Given the description of an element on the screen output the (x, y) to click on. 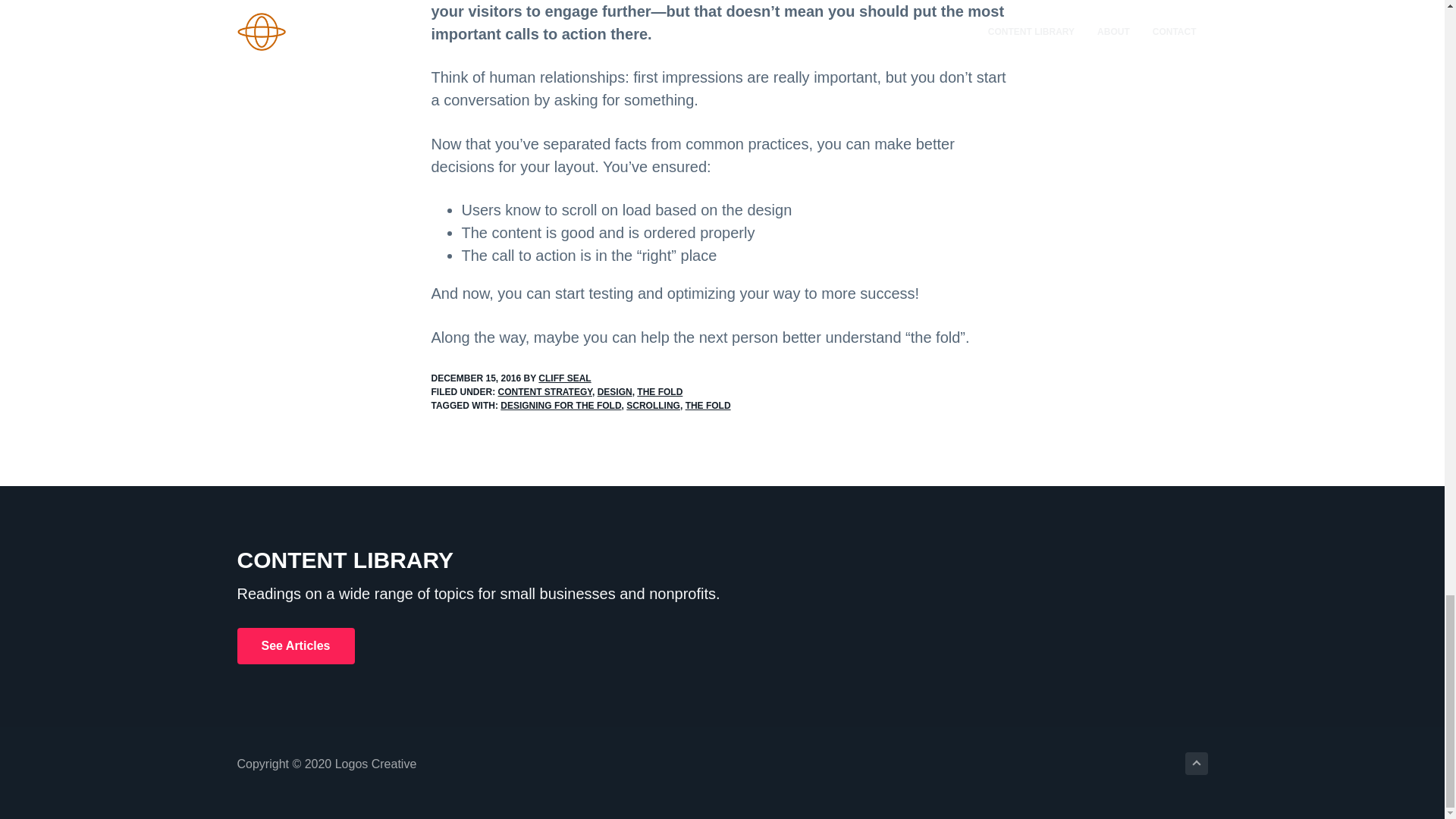
DESIGN (613, 391)
See Articles (294, 646)
THE FOLD (659, 391)
DESIGNING FOR THE FOLD (560, 405)
SCROLLING (652, 405)
THE FOLD (707, 405)
CLIFF SEAL (564, 378)
CONTENT STRATEGY (544, 391)
